Given the description of an element on the screen output the (x, y) to click on. 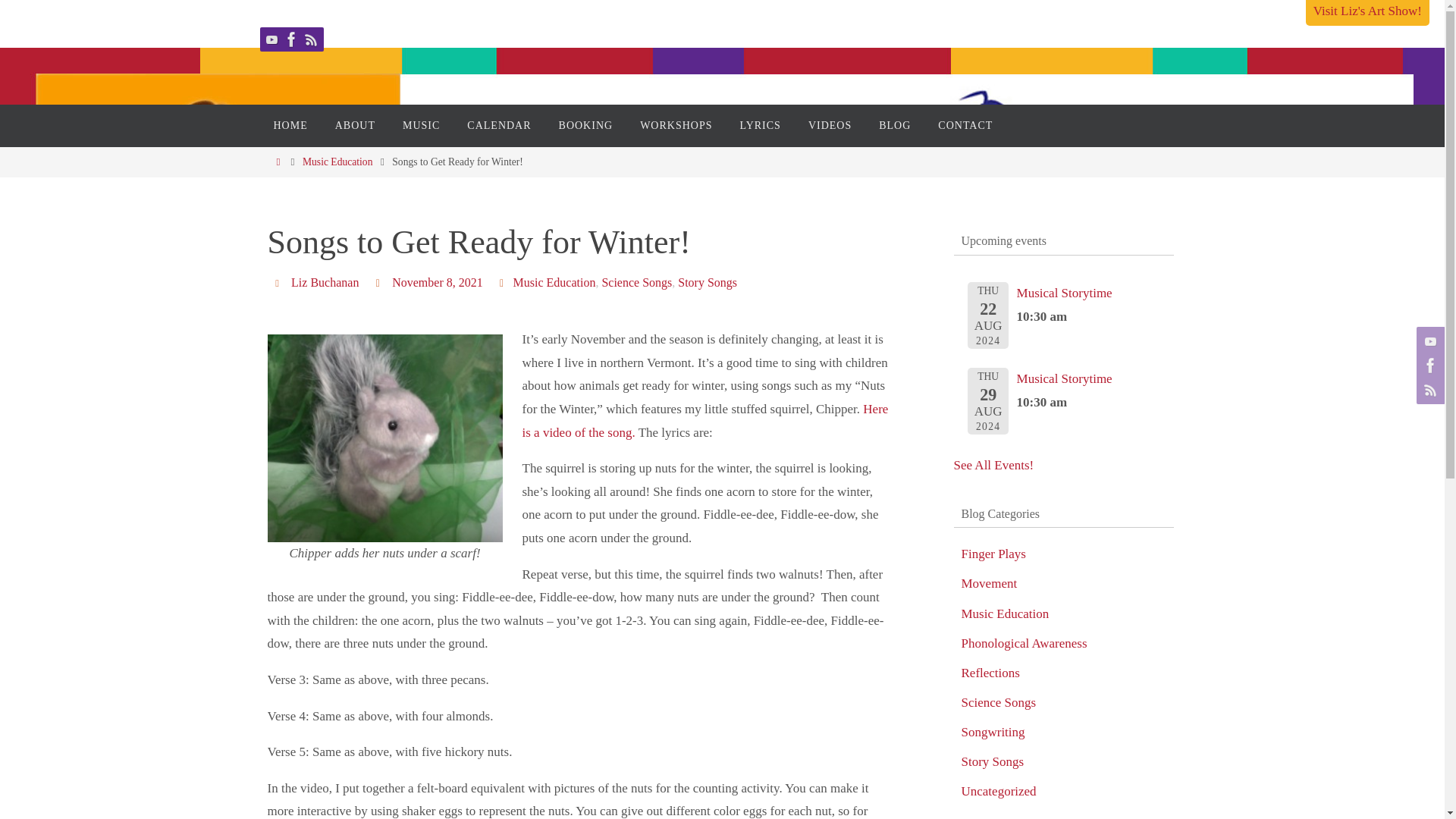
LYRICS (759, 125)
VIDEOS (829, 125)
Finger Plays (993, 554)
MUSIC (420, 125)
Musical Storytime (1064, 293)
Story Songs (707, 282)
Here is a video of the song. (704, 420)
Date (378, 282)
RSS (310, 39)
Liz Buchanan (324, 282)
